Given the description of an element on the screen output the (x, y) to click on. 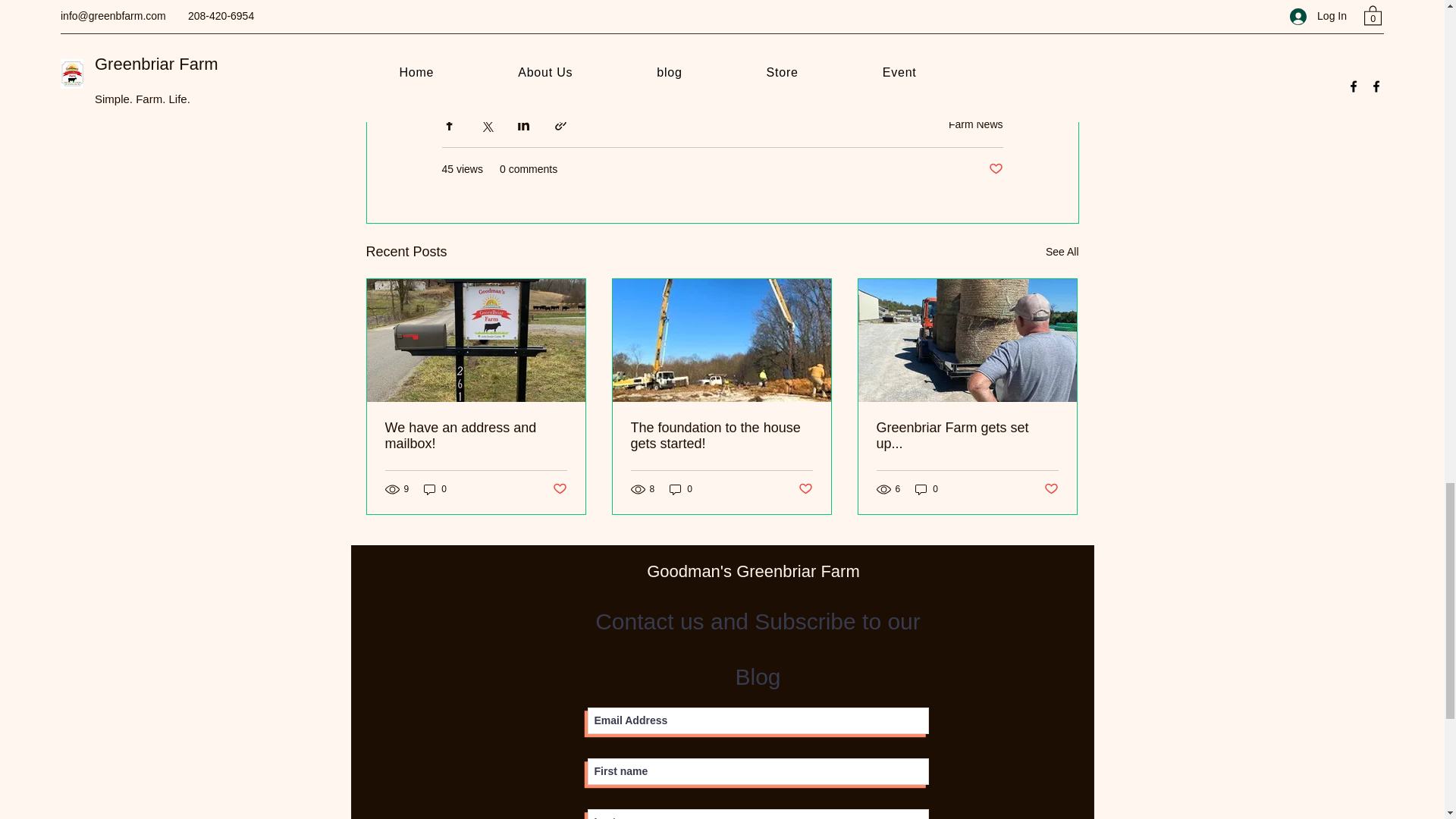
Farm News (976, 123)
0 (435, 489)
Post not marked as liked (995, 169)
See All (1061, 251)
We have an address and mailbox! (476, 436)
